Given the description of an element on the screen output the (x, y) to click on. 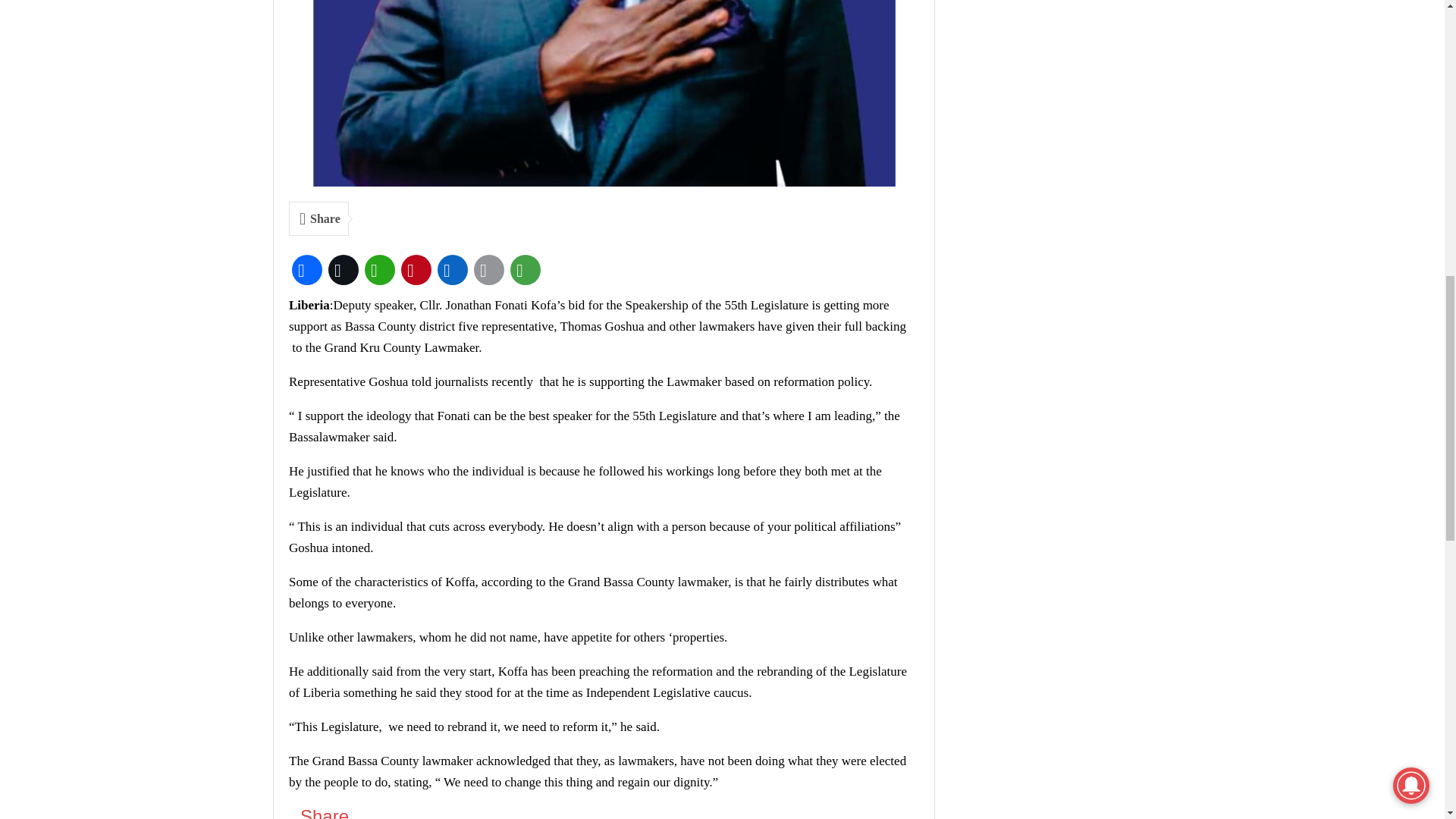
LinkedIn (451, 269)
Email This (488, 269)
More Options (524, 269)
Facebook (306, 269)
WhatsApp (379, 269)
Pinterest (415, 269)
